Given the description of an element on the screen output the (x, y) to click on. 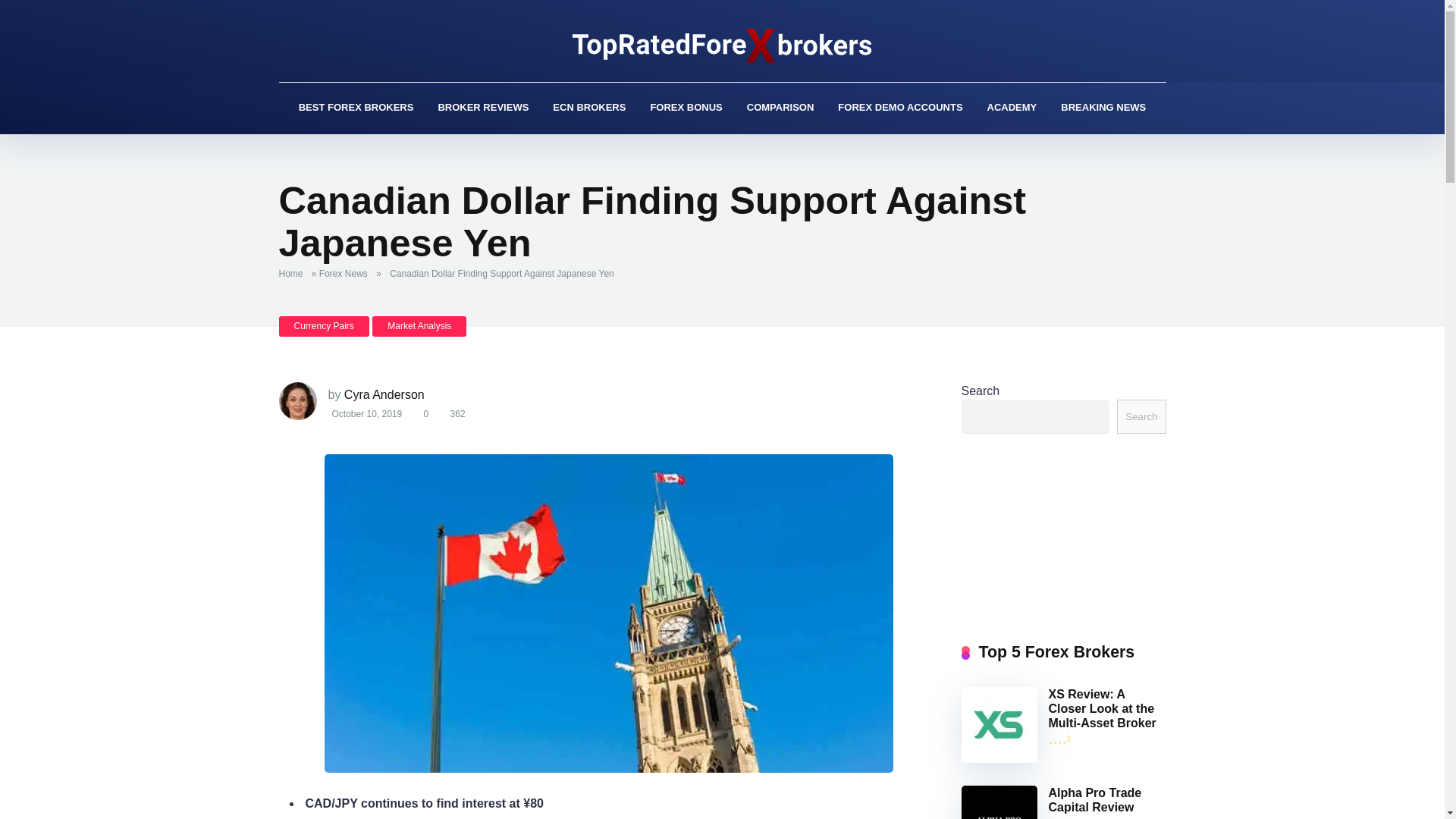
COMPARISON (781, 108)
XS Review: A Closer Look at the Multi-Asset Broker (1102, 708)
FOREX BONUS (685, 108)
Currency Pairs (324, 326)
Market Analysis (418, 326)
Cyra Anderson (384, 394)
BEST FOREX BROKERS (356, 108)
BROKER REVIEWS (482, 108)
Alpha Pro Trade Capital Review (1094, 800)
Forex News (346, 273)
